Given the description of an element on the screen output the (x, y) to click on. 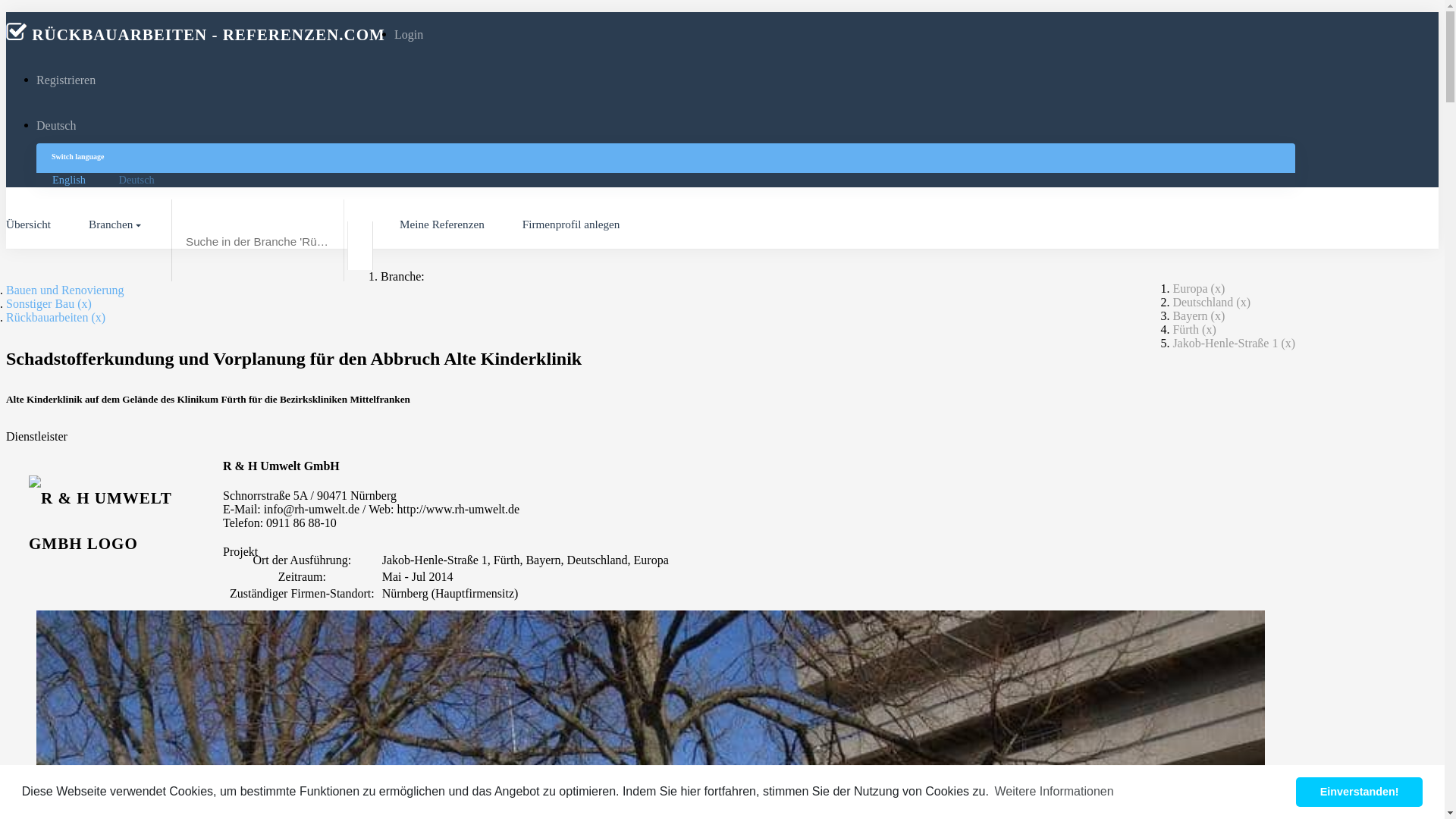
Login Element type: text (408, 34)
(x) Element type: text (98, 316)
http://www.rh-umwelt.de Element type: text (458, 508)
Deutsch Element type: text (136, 179)
Firmenprofil anlegen Element type: text (571, 223)
(x) Element type: text (1218, 288)
Branchen Element type: text (116, 223)
info@rh-umwelt.de Element type: text (311, 508)
Bayern Element type: text (1189, 315)
Deutschland Element type: text (1202, 301)
Meine Referenzen Element type: text (441, 223)
Zur Beta einladen Element type: text (1356, 796)
Sonstiger Bau Element type: text (40, 303)
R & H Umwelt GmbH Element type: text (280, 465)
(x) Element type: text (1287, 342)
Weitere Informationen Element type: text (1053, 791)
(x) Element type: text (1218, 315)
(x) Element type: text (1208, 329)
0911 86 88-10 Element type: text (301, 522)
Deutsch Element type: text (55, 125)
Europa Element type: text (1189, 288)
(x) Element type: text (84, 303)
Einverstanden! Element type: text (1358, 791)
(x) Element type: text (1243, 301)
English Element type: text (70, 179)
Registrieren Element type: text (65, 80)
Bauen und Renovierung Element type: text (65, 289)
